Given the description of an element on the screen output the (x, y) to click on. 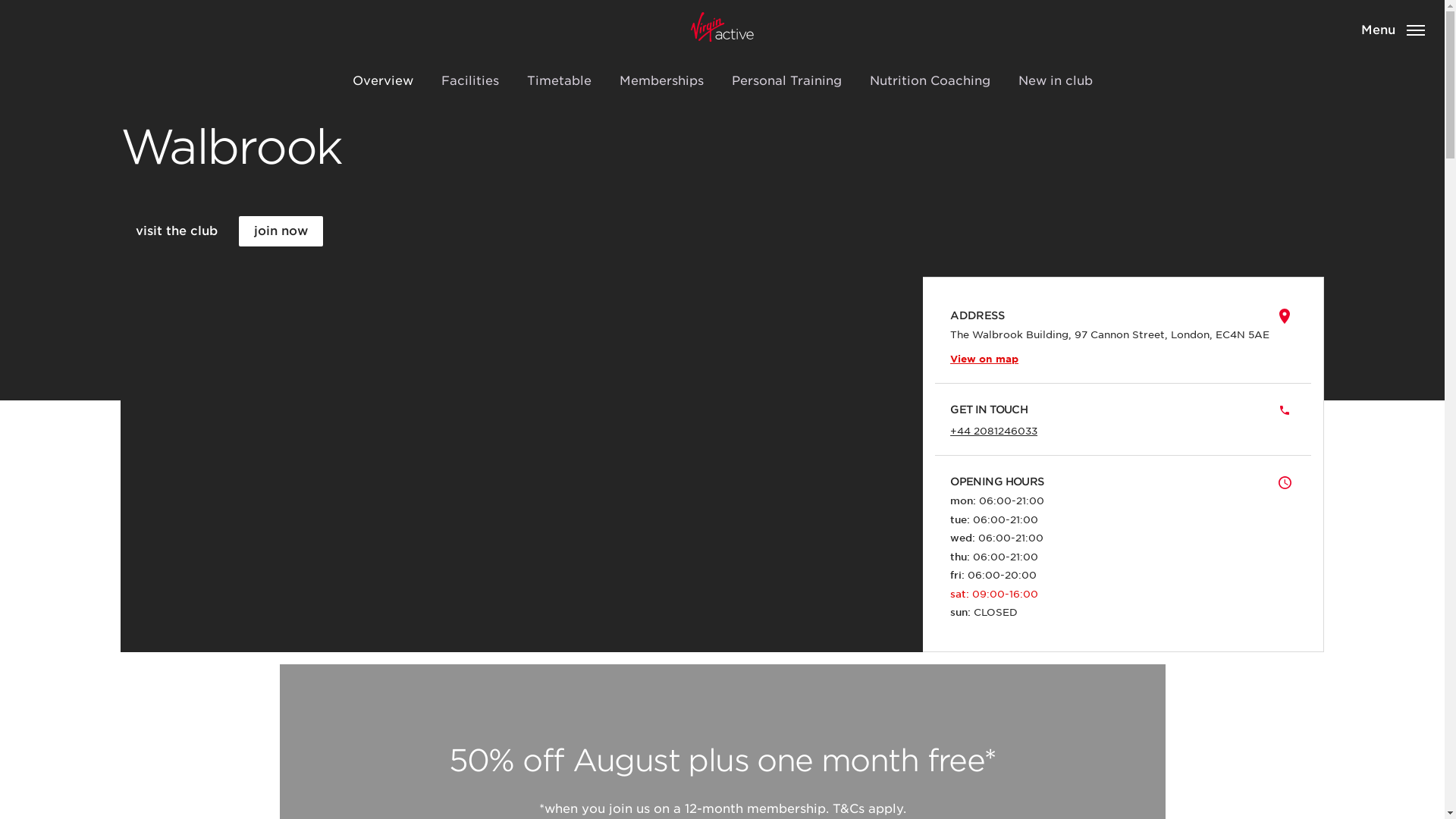
Timetable (557, 80)
Facilities (470, 80)
visit the club (176, 231)
Nutrition Coaching (929, 80)
Personal Training (786, 80)
join now (280, 231)
Overview (382, 80)
Memberships (660, 80)
View on map (983, 358)
New in club (1054, 80)
